Given the description of an element on the screen output the (x, y) to click on. 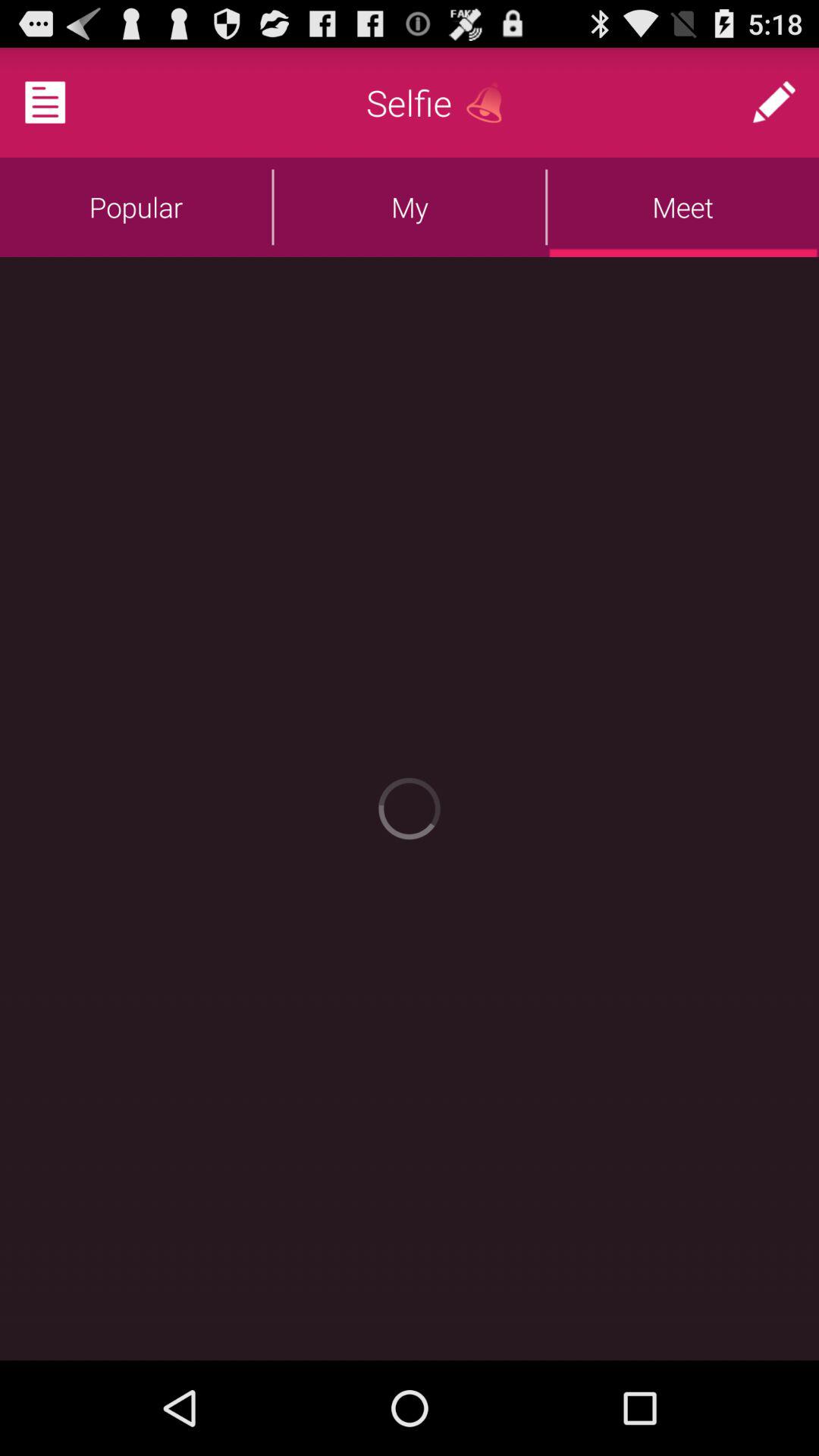
turn off the selfie icon (409, 102)
